Given the description of an element on the screen output the (x, y) to click on. 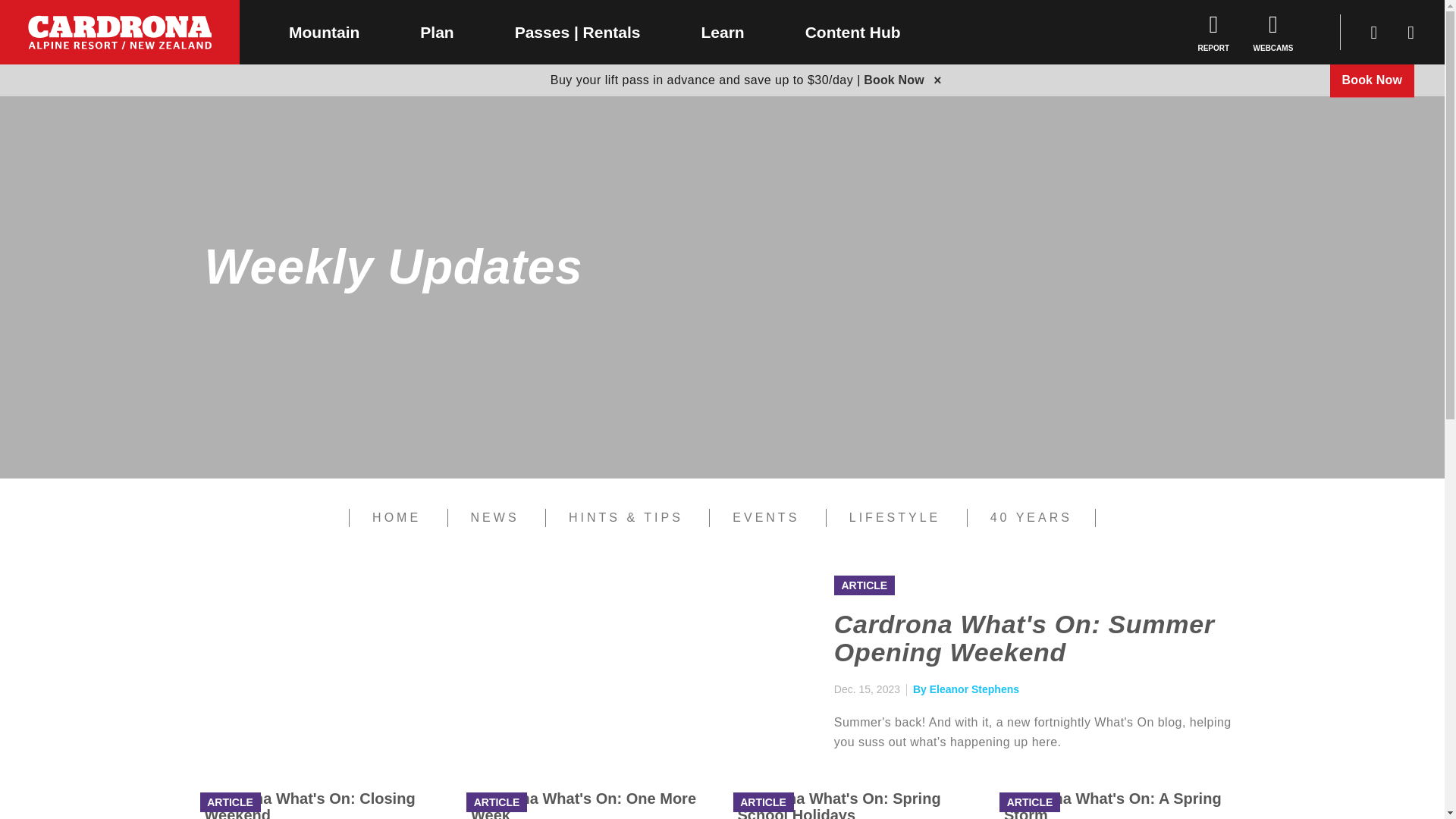
Shopping Cart (1373, 31)
Log in (1410, 31)
Webcams (1273, 31)
WEBCAMS (1273, 31)
